Given the description of an element on the screen output the (x, y) to click on. 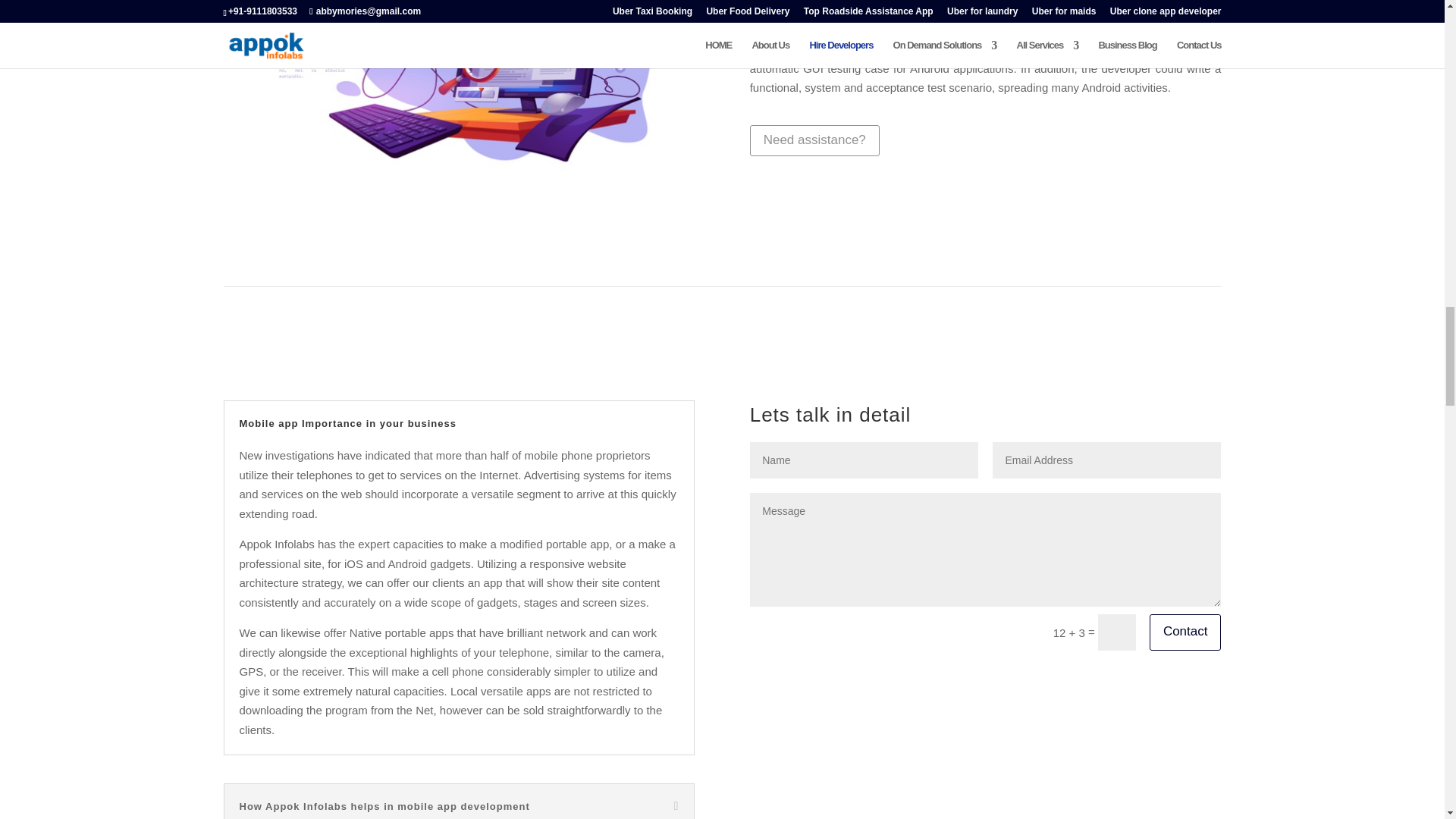
Hire-developer (458, 94)
